Given the description of an element on the screen output the (x, y) to click on. 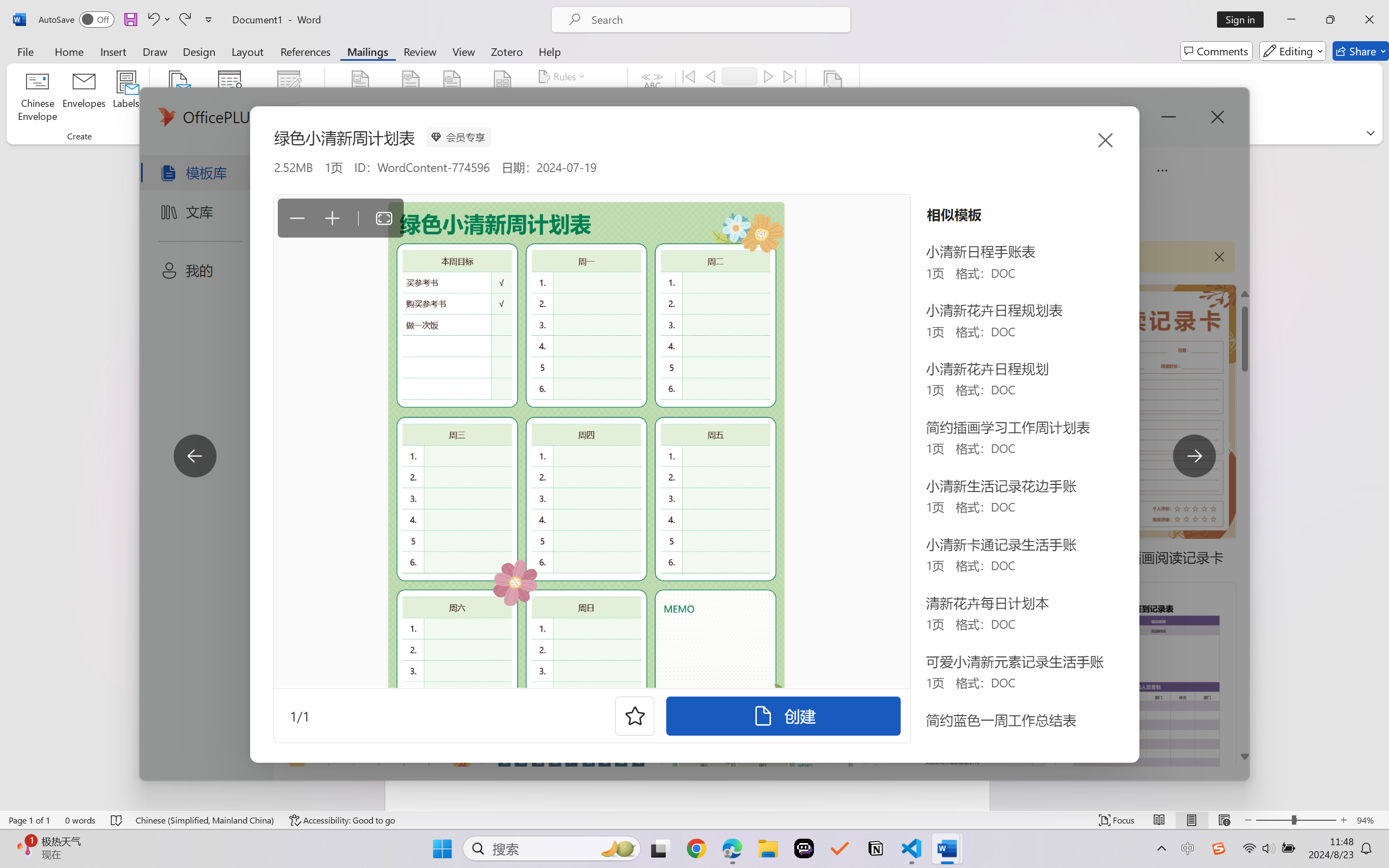
First (688, 75)
Address Block... (410, 97)
Undo Apply Quick Style Set (158, 19)
Redo Apply Quick Style (184, 19)
